Given the description of an element on the screen output the (x, y) to click on. 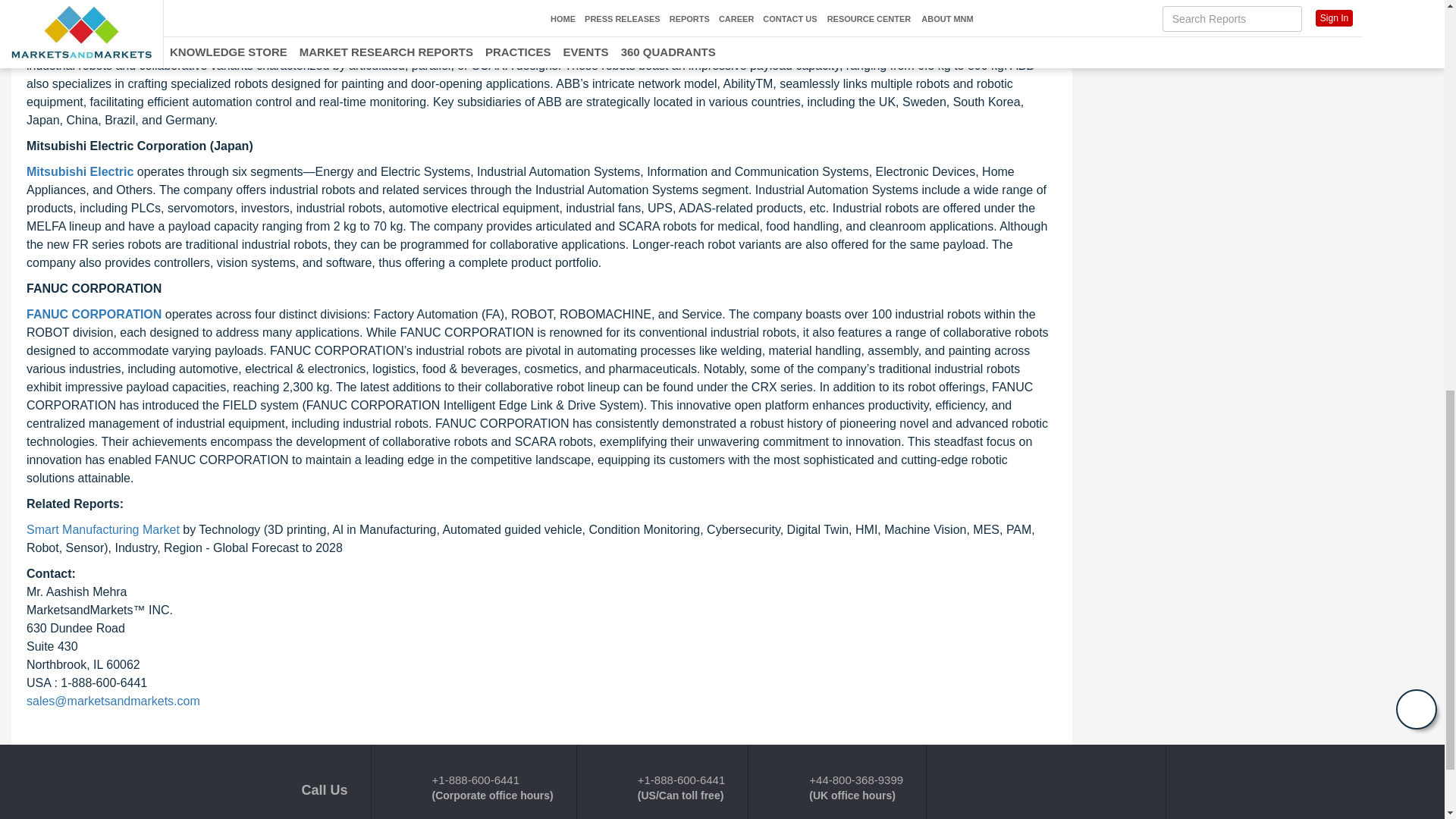
Mitsubishi Electric (79, 171)
Smart Manufacturing Market (102, 529)
FANUC CORPORATION (93, 314)
